Given the description of an element on the screen output the (x, y) to click on. 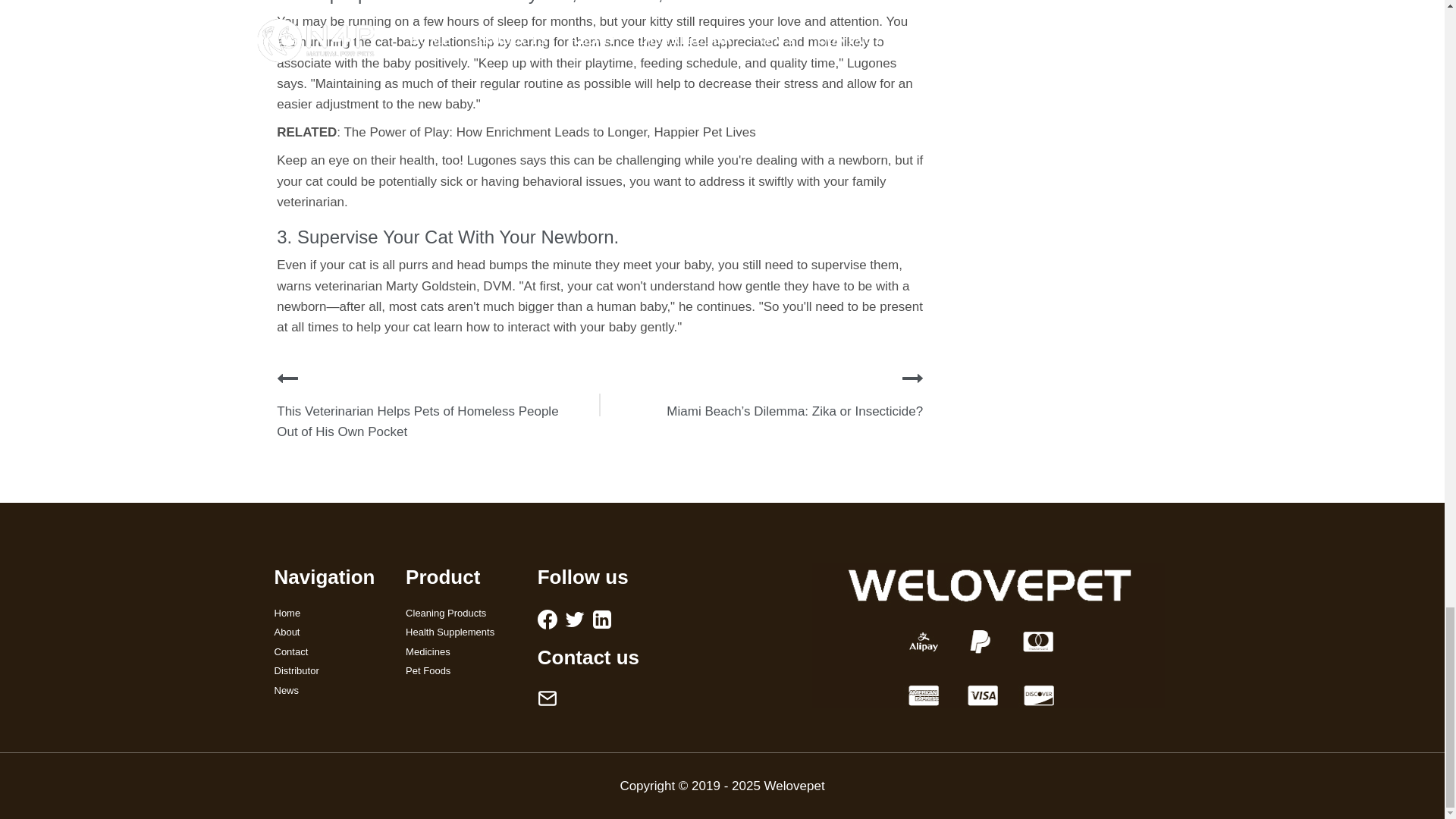
next article (912, 378)
Linkedin (601, 619)
previous article (287, 378)
Twitter (574, 619)
Home (329, 613)
